Given the description of an element on the screen output the (x, y) to click on. 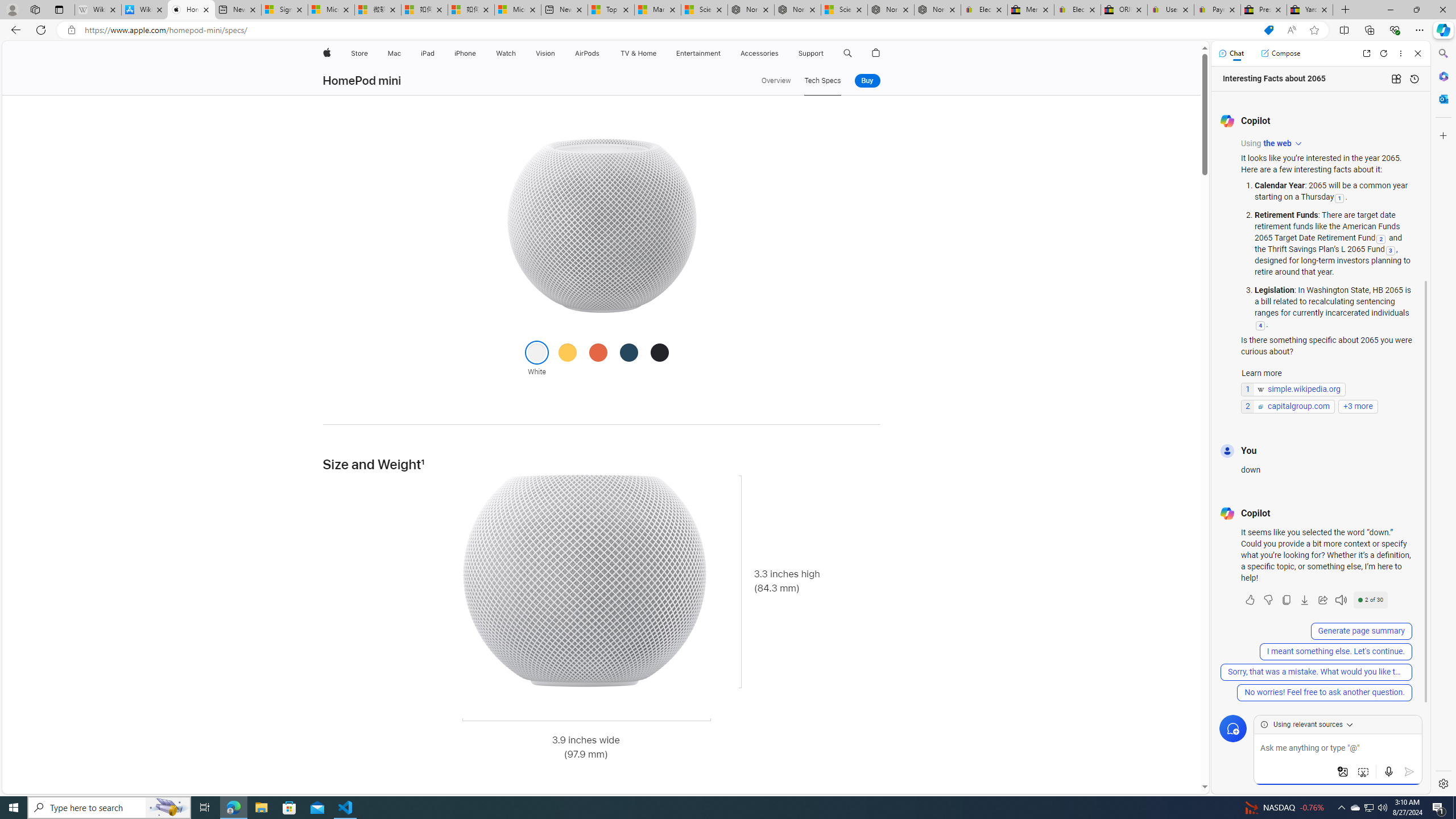
iPhone menu (477, 53)
Vision menu (557, 53)
Nordace - FAQ (937, 9)
Support menu (825, 53)
Orange (598, 351)
iPad menu (435, 53)
AirPods (587, 53)
